Given the description of an element on the screen output the (x, y) to click on. 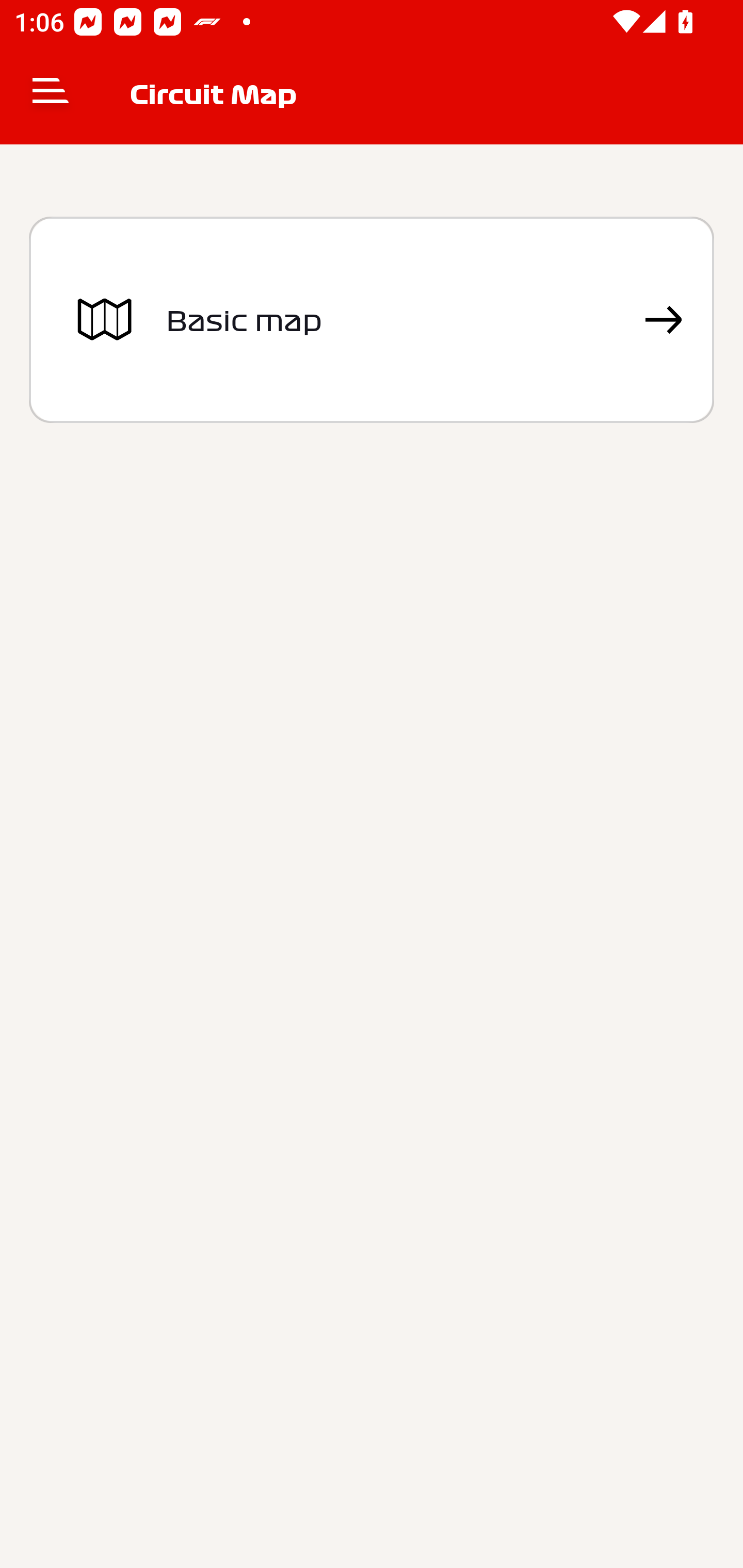
Navigate up (50, 93)
Basic map (371, 319)
